Given the description of an element on the screen output the (x, y) to click on. 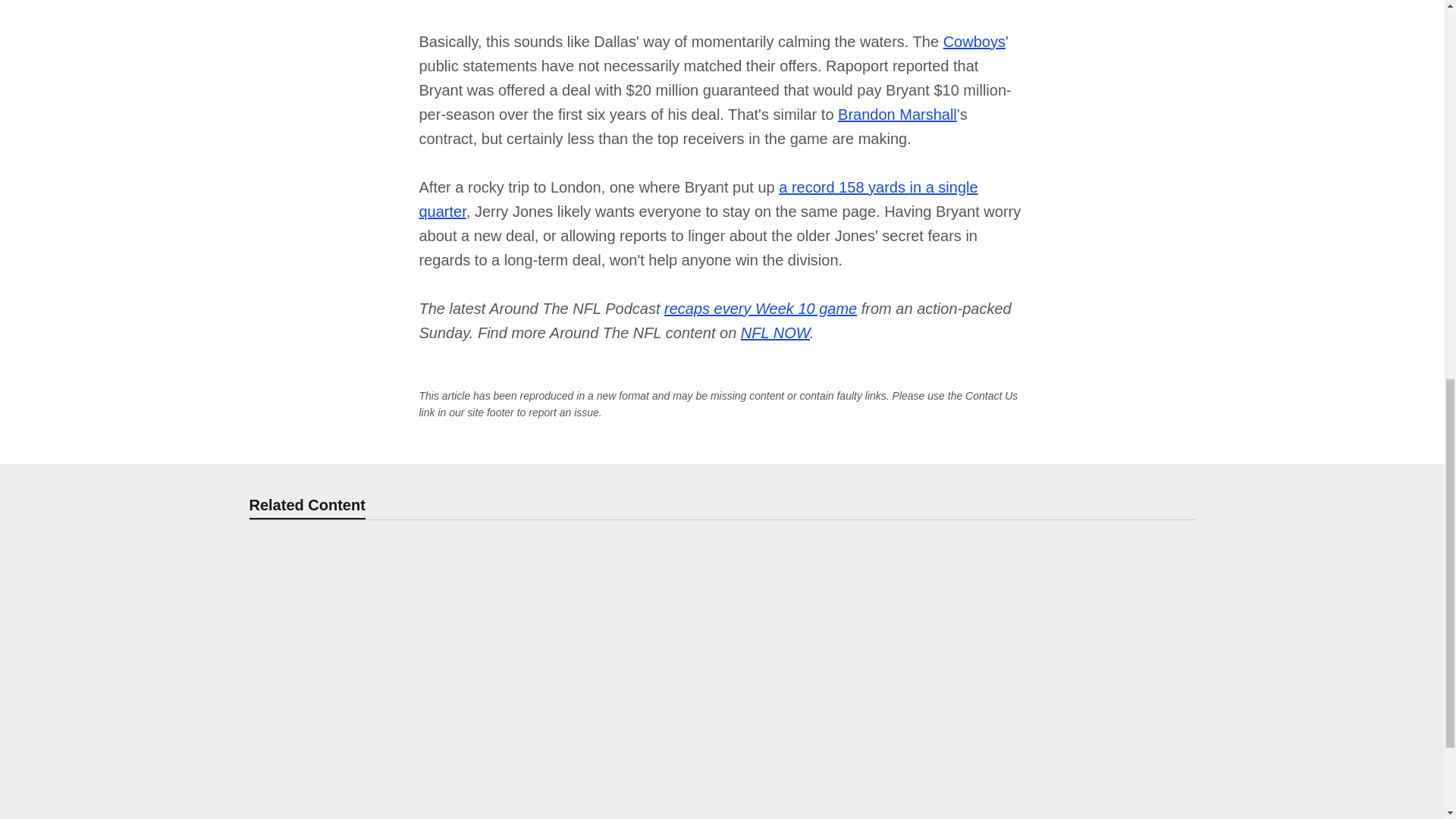
recaps every Week 10 game (760, 308)
NFL NOW (775, 332)
a record 158 yards in a single quarter (697, 199)
Cowboys (974, 41)
Brandon Marshall (897, 114)
